Given the description of an element on the screen output the (x, y) to click on. 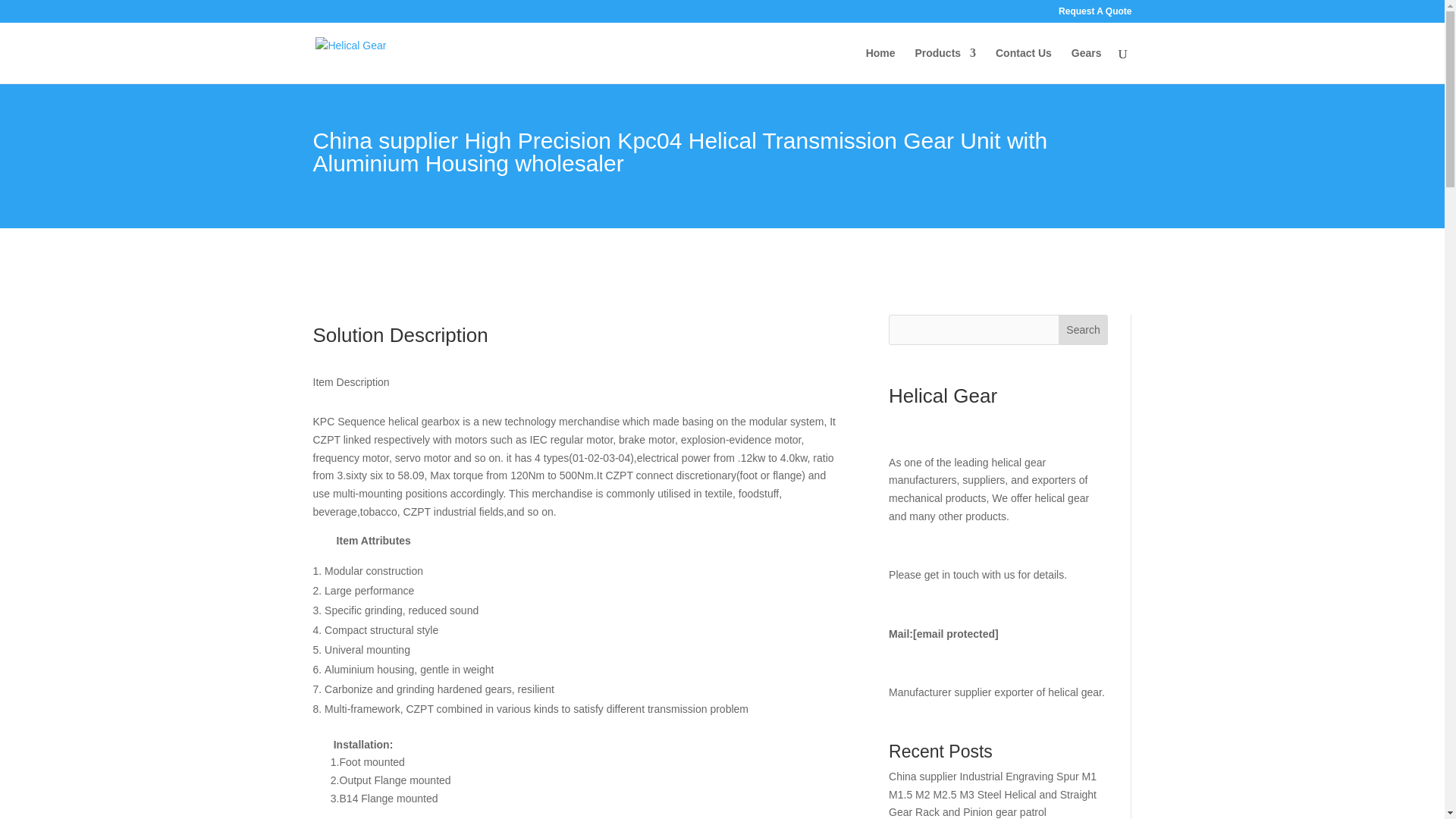
Products (944, 65)
Search (1083, 329)
Request A Quote (1094, 14)
Contact Us (1023, 65)
